Given the description of an element on the screen output the (x, y) to click on. 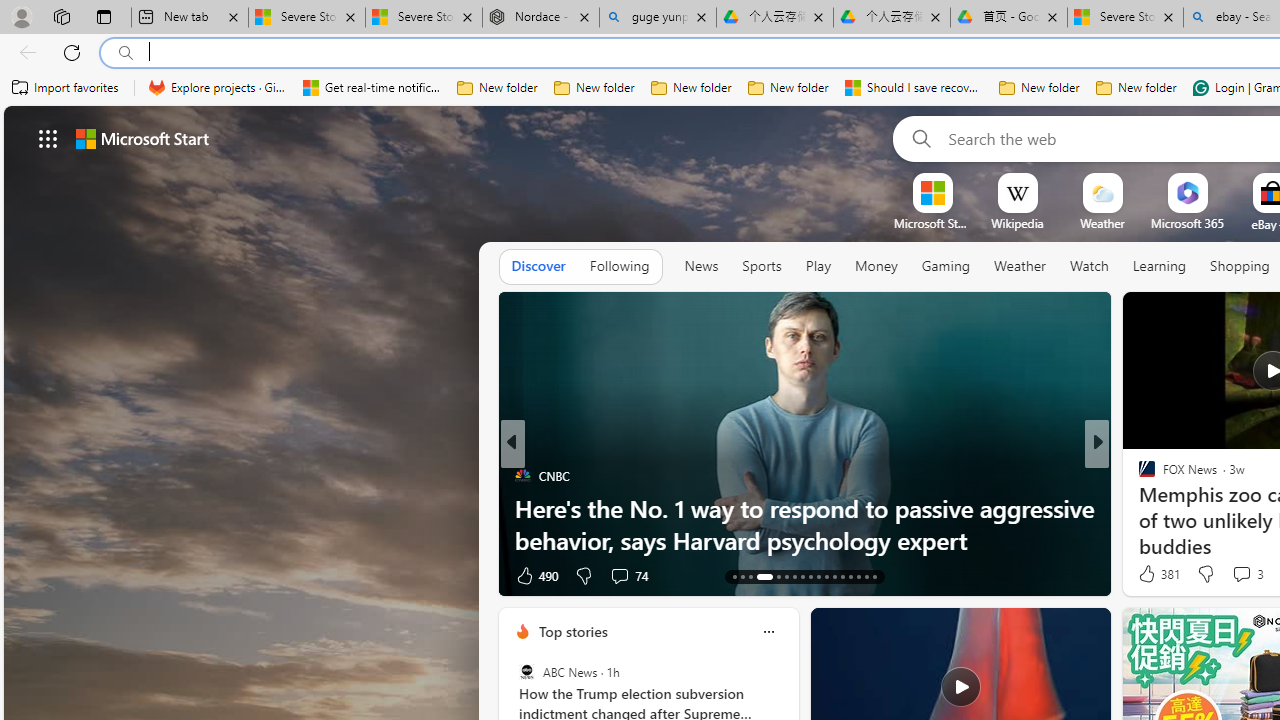
Microsoft start (142, 138)
Action News Jax (1138, 507)
AutomationID: tab-27 (857, 576)
AutomationID: tab-23 (825, 576)
Play (817, 265)
View comments 19 Comment (1229, 575)
honeymallow (1138, 507)
AutomationID: tab-20 (801, 576)
Spotlight Feature (1138, 475)
Weather (1019, 267)
